Given the description of an element on the screen output the (x, y) to click on. 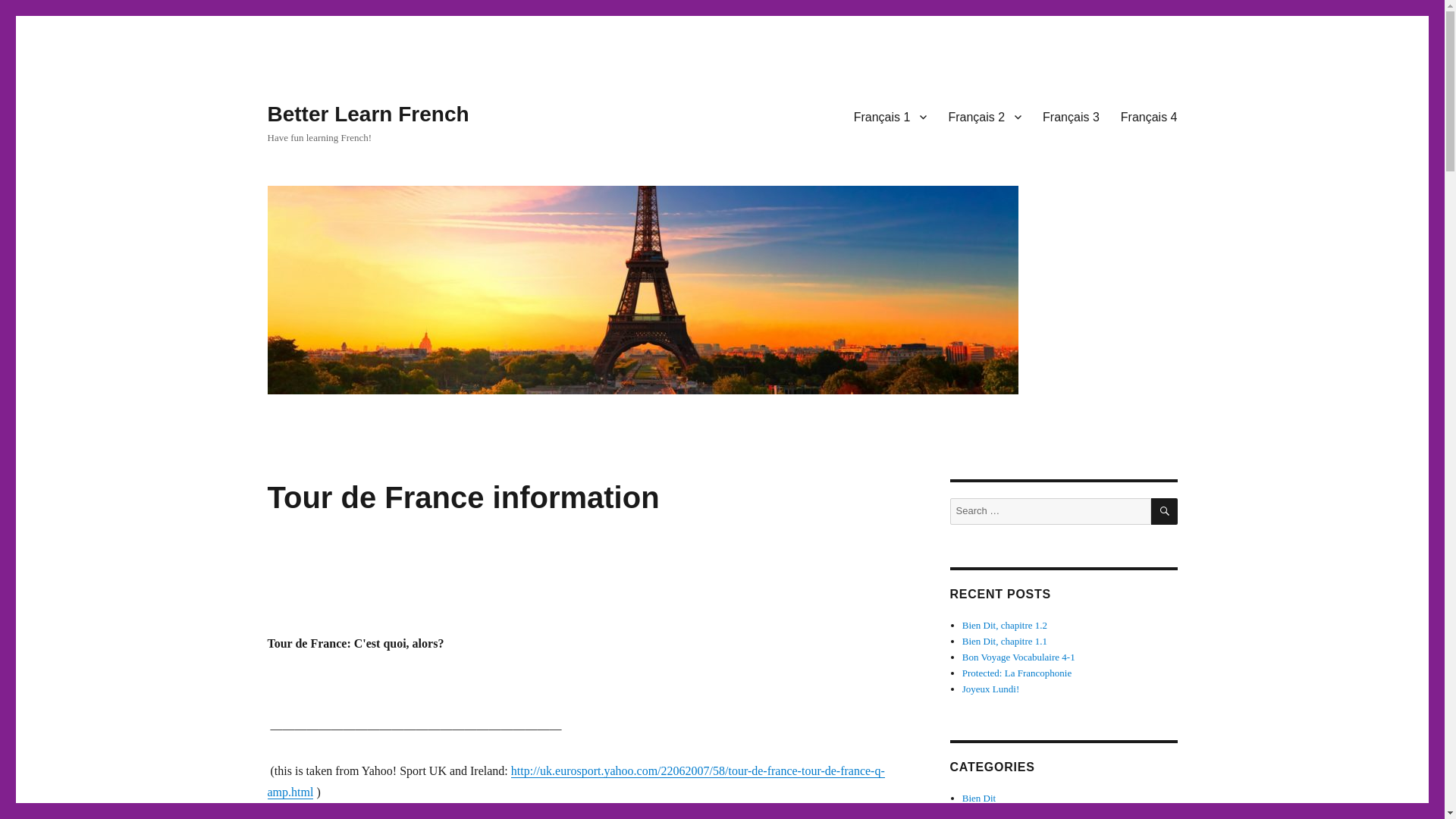
Culture (976, 813)
Bien Dit, chapitre 1.1 (1004, 641)
Bien Dit, chapitre 1.2 (1004, 624)
Better Learn French (367, 114)
Joyeux Lundi! (990, 688)
Protected: La Francophonie (1016, 672)
Bien Dit (978, 797)
SEARCH (1164, 510)
Bon Voyage Vocabulaire 4-1 (1018, 656)
